Given the description of an element on the screen output the (x, y) to click on. 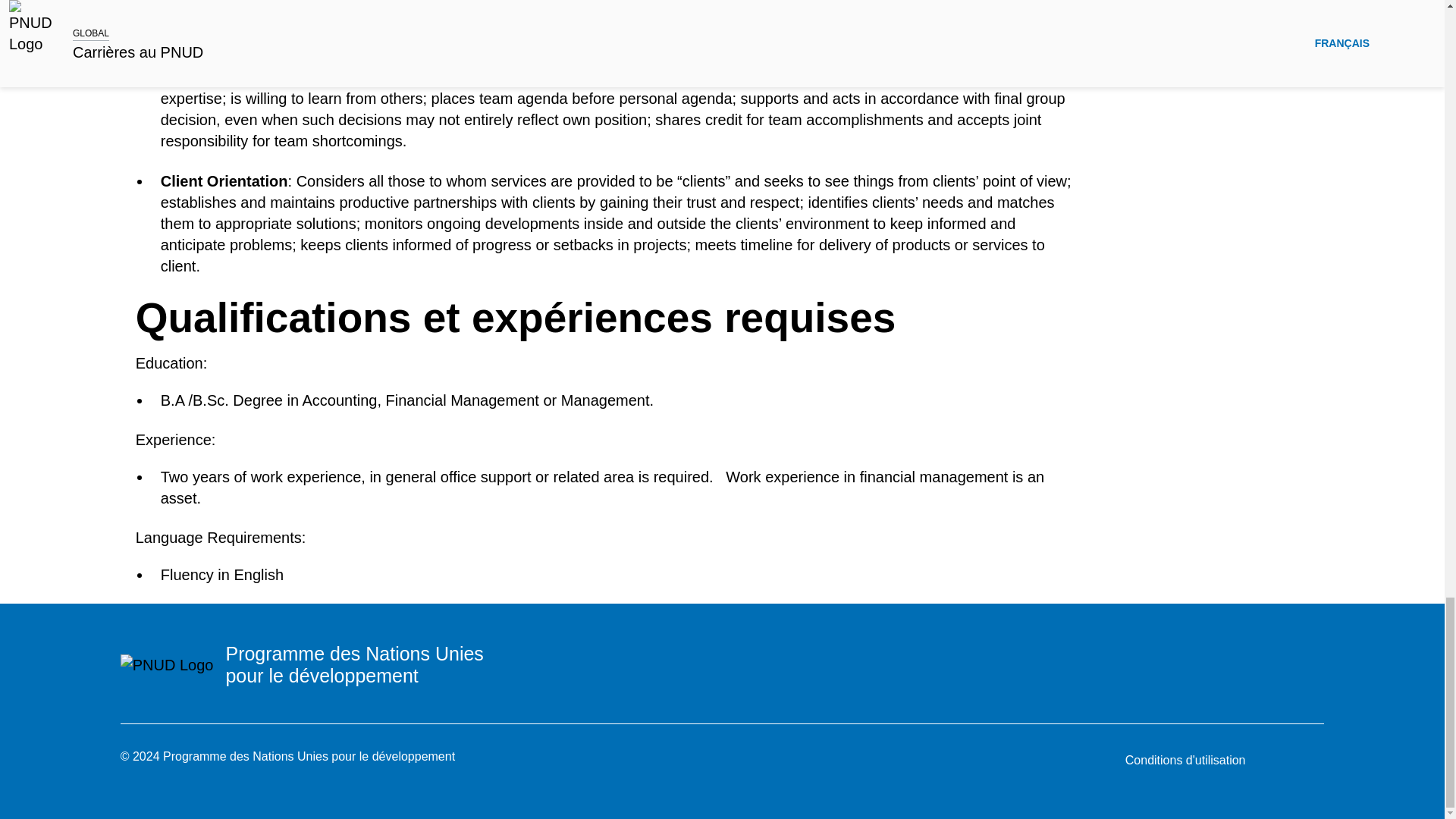
LinkedIn (1315, 652)
Conditions d'utilisation (1185, 760)
Facebook (1198, 652)
Instagram (1276, 652)
Twitter (1158, 652)
Youtube (1237, 652)
